Given the description of an element on the screen output the (x, y) to click on. 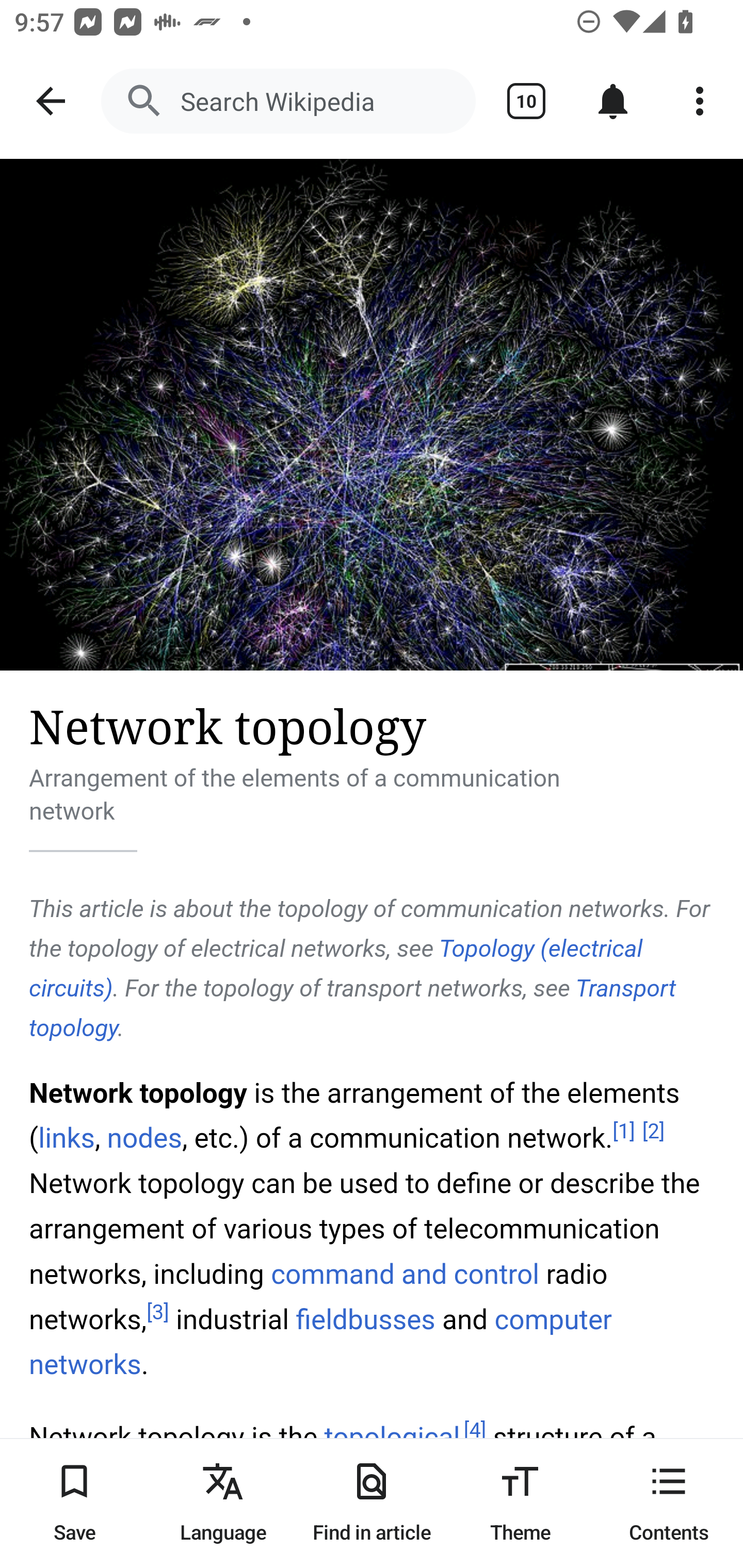
Show tabs 10 (525, 100)
Notifications (612, 100)
Navigate up (50, 101)
More options (699, 101)
Search Wikipedia (288, 100)
Image: Network topology (371, 414)
Topology (electrical circuits) (336, 968)
Transport topology (352, 1007)
[] [ 1 ] (624, 1130)
[] [ 2 ] (653, 1130)
links (66, 1138)
nodes (144, 1138)
command and control (405, 1272)
[] [ 3 ] (157, 1311)
computer networks (320, 1342)
fieldbusses (365, 1320)
[] [ 4 ] (474, 1430)
Save (74, 1502)
Language (222, 1502)
Find in article (371, 1502)
Theme (519, 1502)
Contents (668, 1502)
